Given the description of an element on the screen output the (x, y) to click on. 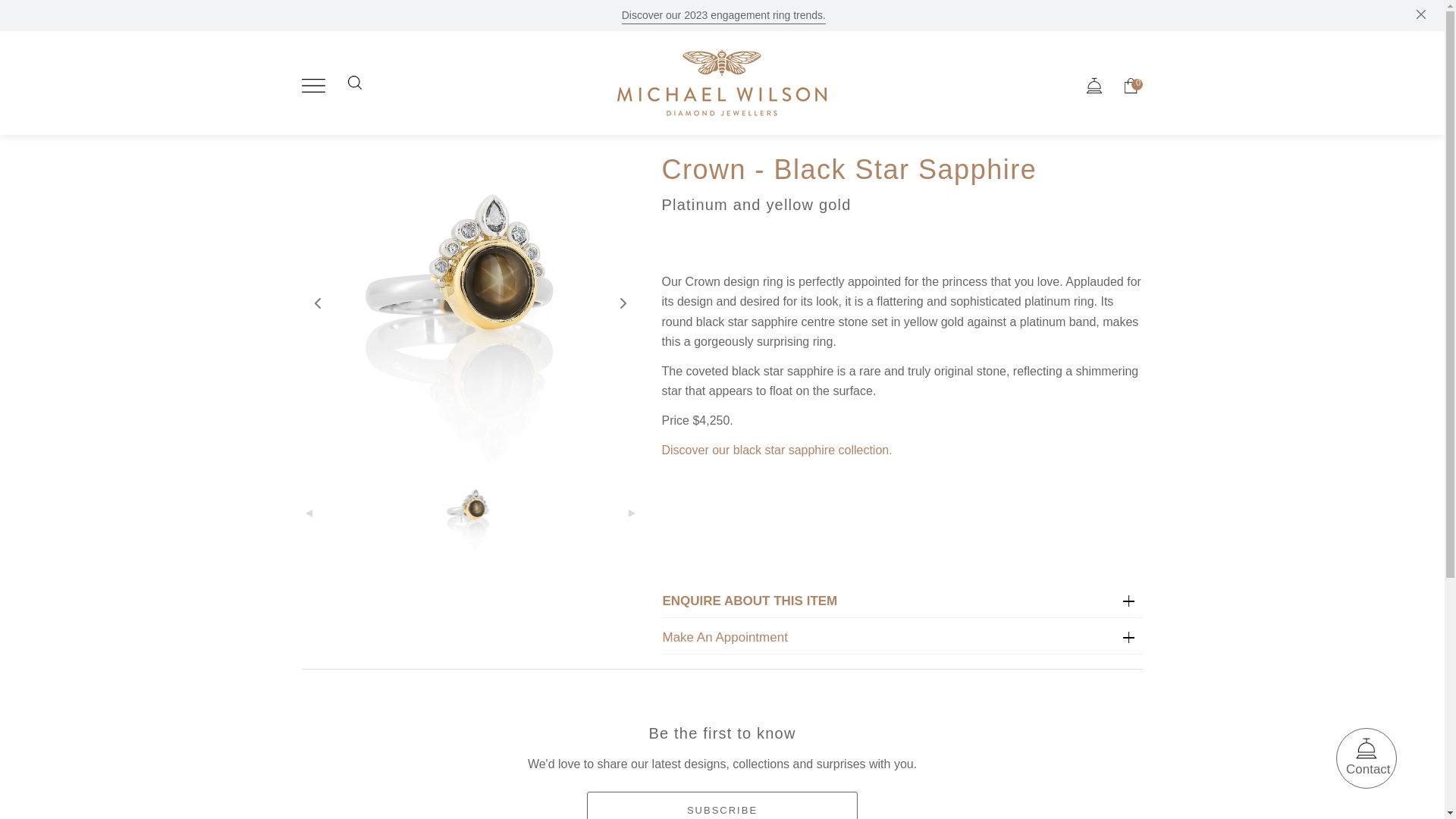
ENQUIRE ABOUT THIS ITEM (902, 600)
Discover our 2023 engagement ring trends. (723, 15)
Make An Appointment (902, 636)
Discover our black star sapphire collection. (776, 449)
0 (1130, 85)
SUBSCRIBE (721, 805)
